Given the description of an element on the screen output the (x, y) to click on. 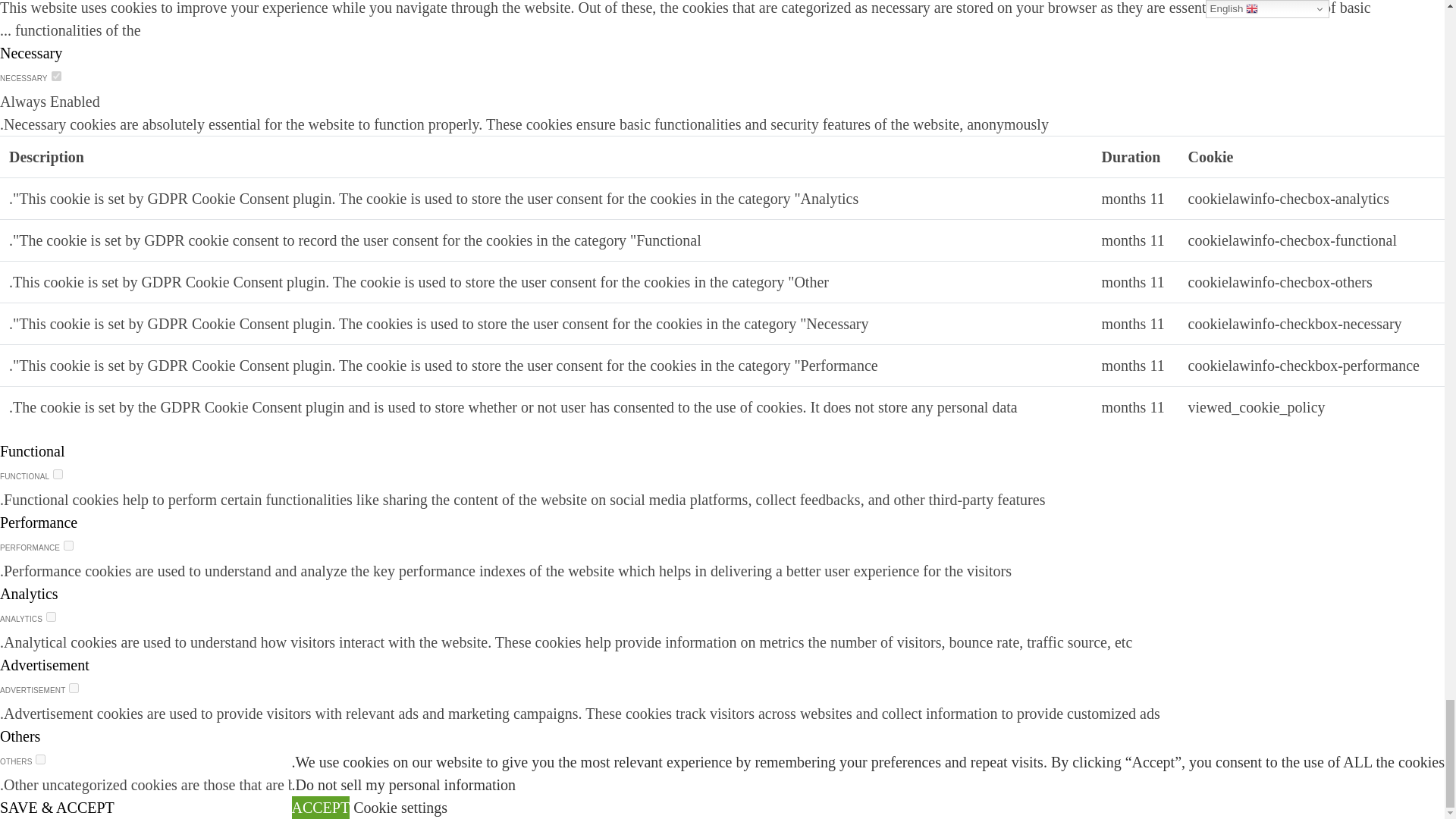
on (73, 687)
on (39, 759)
on (57, 474)
on (69, 545)
on (51, 616)
on (55, 76)
